Given the description of an element on the screen output the (x, y) to click on. 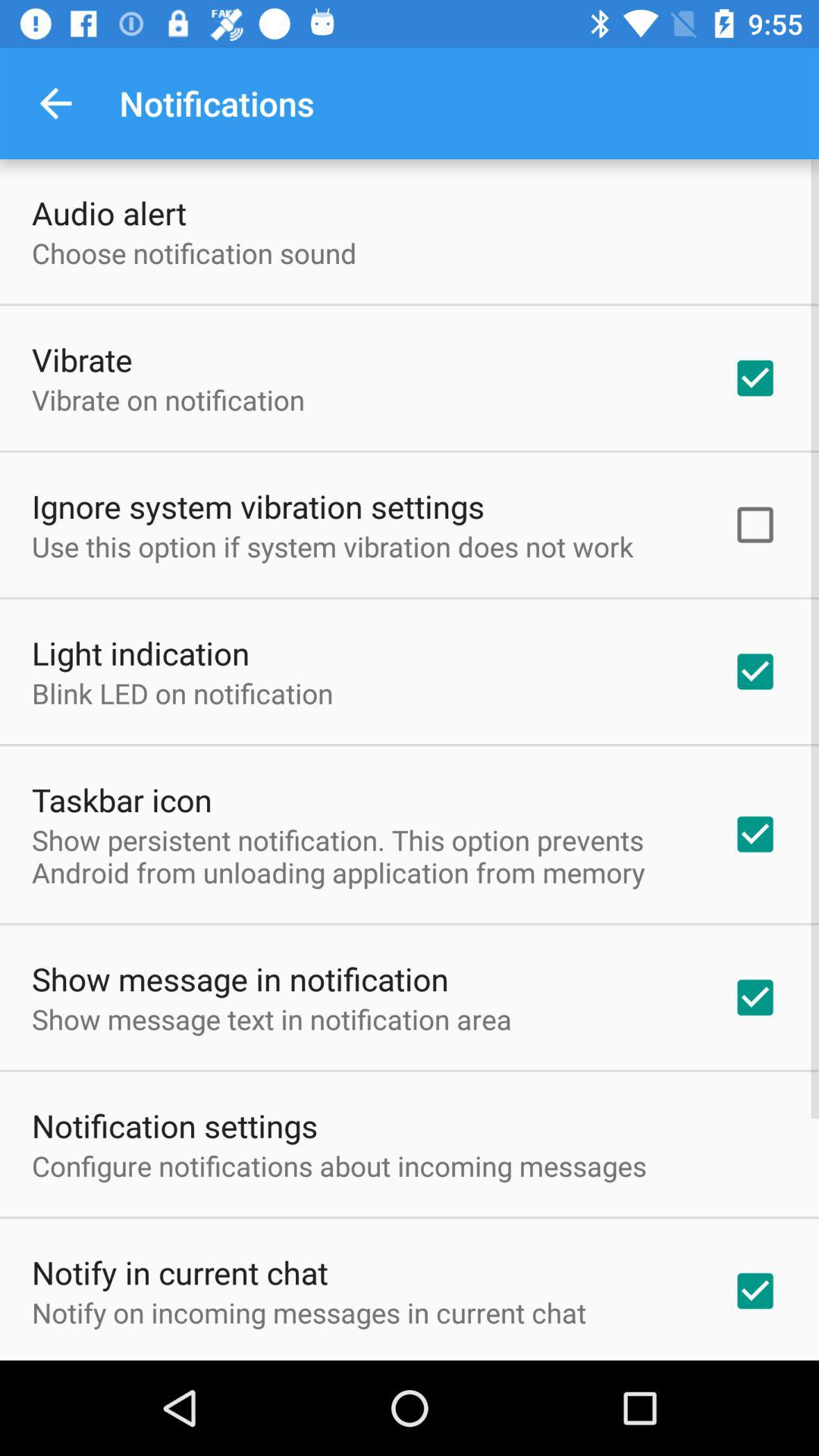
turn off item above choose notification sound item (108, 212)
